Given the description of an element on the screen output the (x, y) to click on. 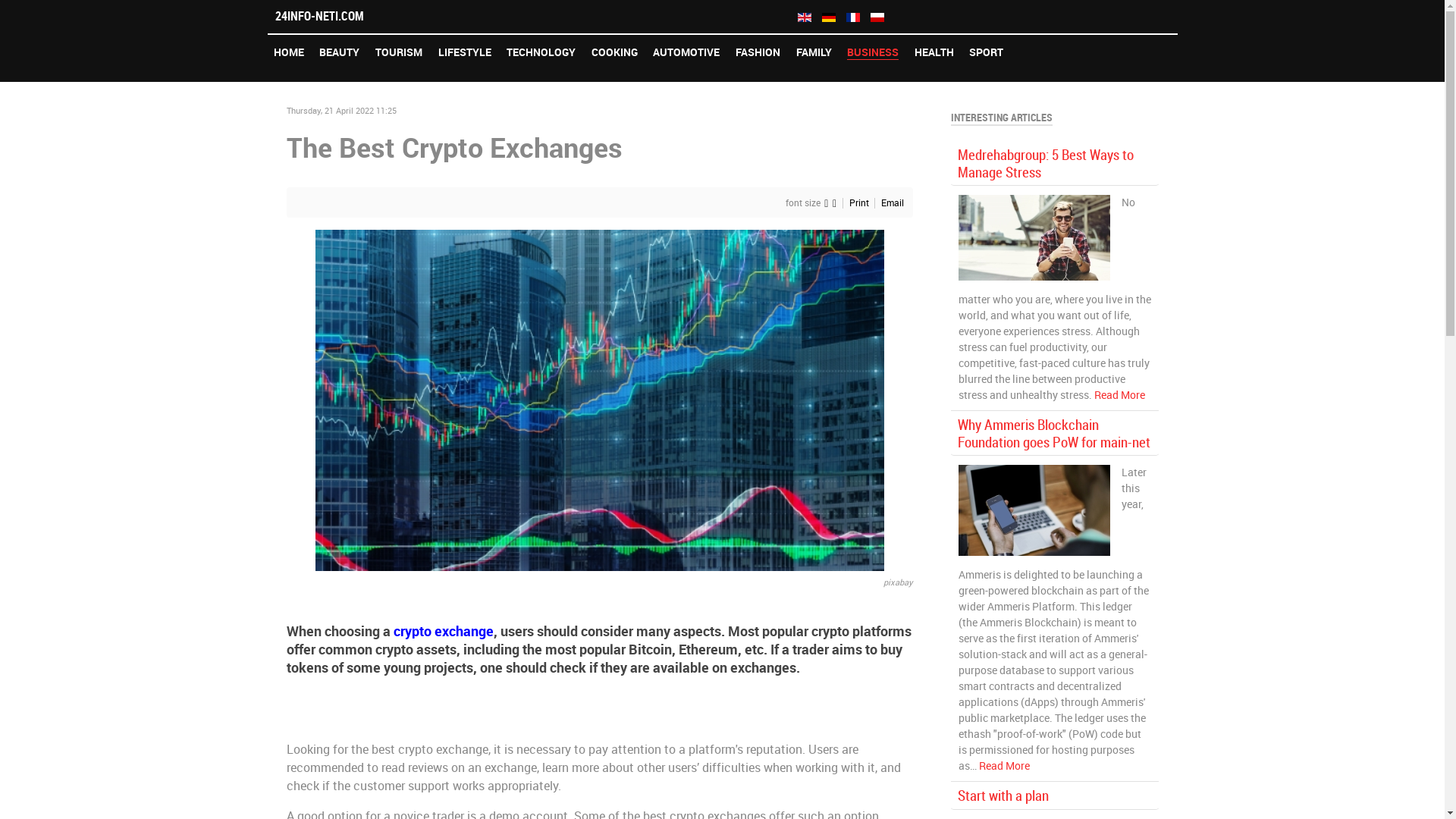
HEALTH Element type: text (933, 52)
Polski Element type: hover (877, 16)
FASHION Element type: text (757, 52)
BEAUTY Element type: text (339, 52)
Click to preview image Element type: hover (599, 399)
English (UK) Element type: hover (804, 16)
Print Element type: text (860, 202)
COOKING Element type: text (614, 52)
German (DE) Element type: hover (828, 16)
Start with a plan Element type: text (1002, 795)
Email Element type: text (892, 202)
24INFO-NETI.COM Element type: text (526, 16)
AUTOMOTIVE Element type: text (686, 52)
SPORT Element type: text (986, 52)
Read More Element type: text (1003, 765)
BUSINESS Element type: text (872, 52)
FAMILY Element type: text (813, 52)
crypto exchange Element type: text (442, 631)
Read More Element type: text (1118, 395)
Medrehabgroup: 5 Best Ways to Manage Stress Element type: text (1044, 163)
Why Ammeris Blockchain Foundation goes PoW for main-net Element type: text (1053, 433)
LIFESTYLE Element type: text (464, 52)
TOURISM Element type: text (398, 52)
TECHNOLOGY Element type: text (541, 52)
HOME Element type: text (288, 52)
